Given the description of an element on the screen output the (x, y) to click on. 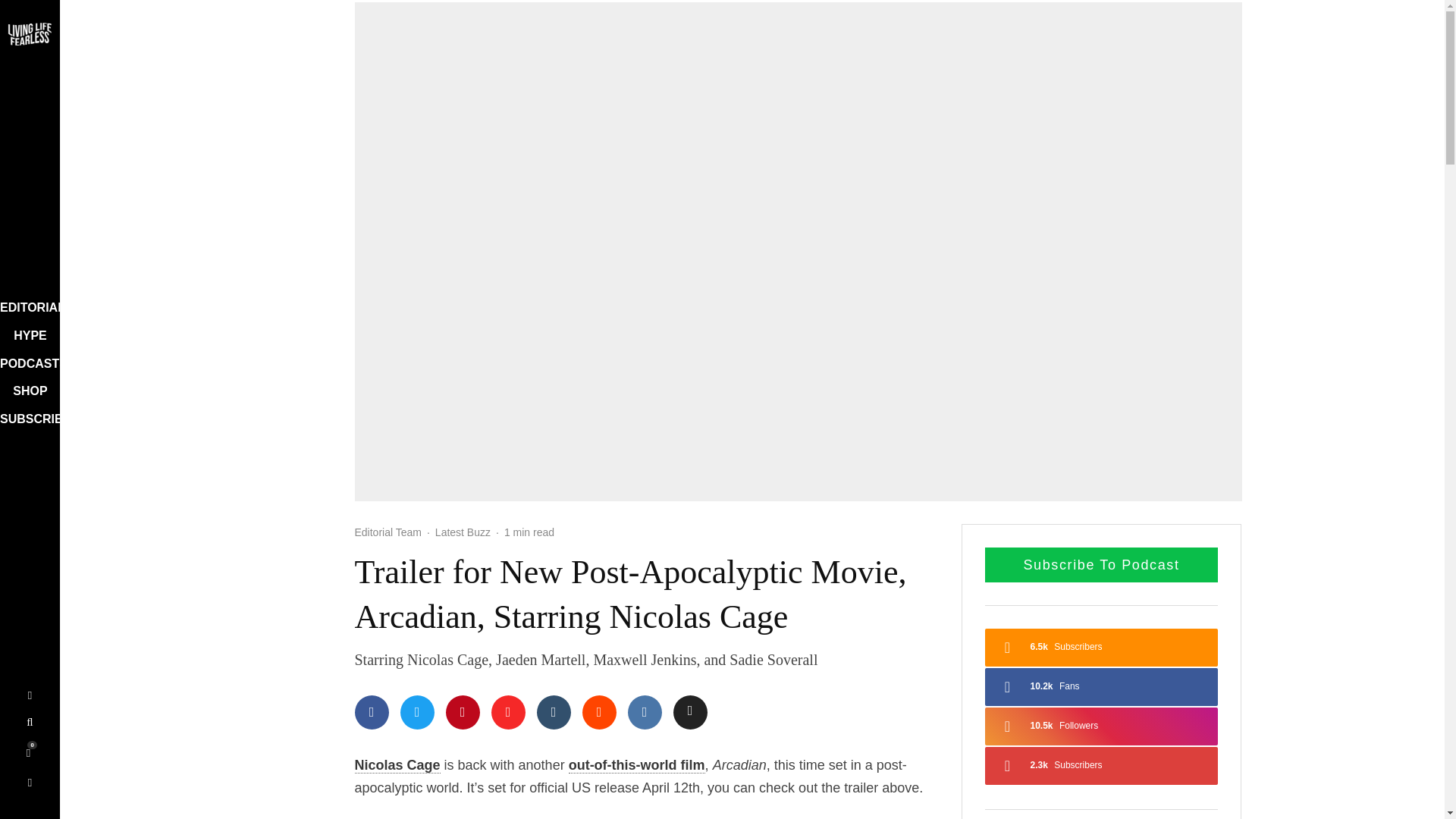
Nicolas Cage (398, 765)
out-of-this-world film (636, 765)
Latest Buzz (462, 532)
SUBSCRIBE! (24, 419)
Editorial Team (388, 532)
